Given the description of an element on the screen output the (x, y) to click on. 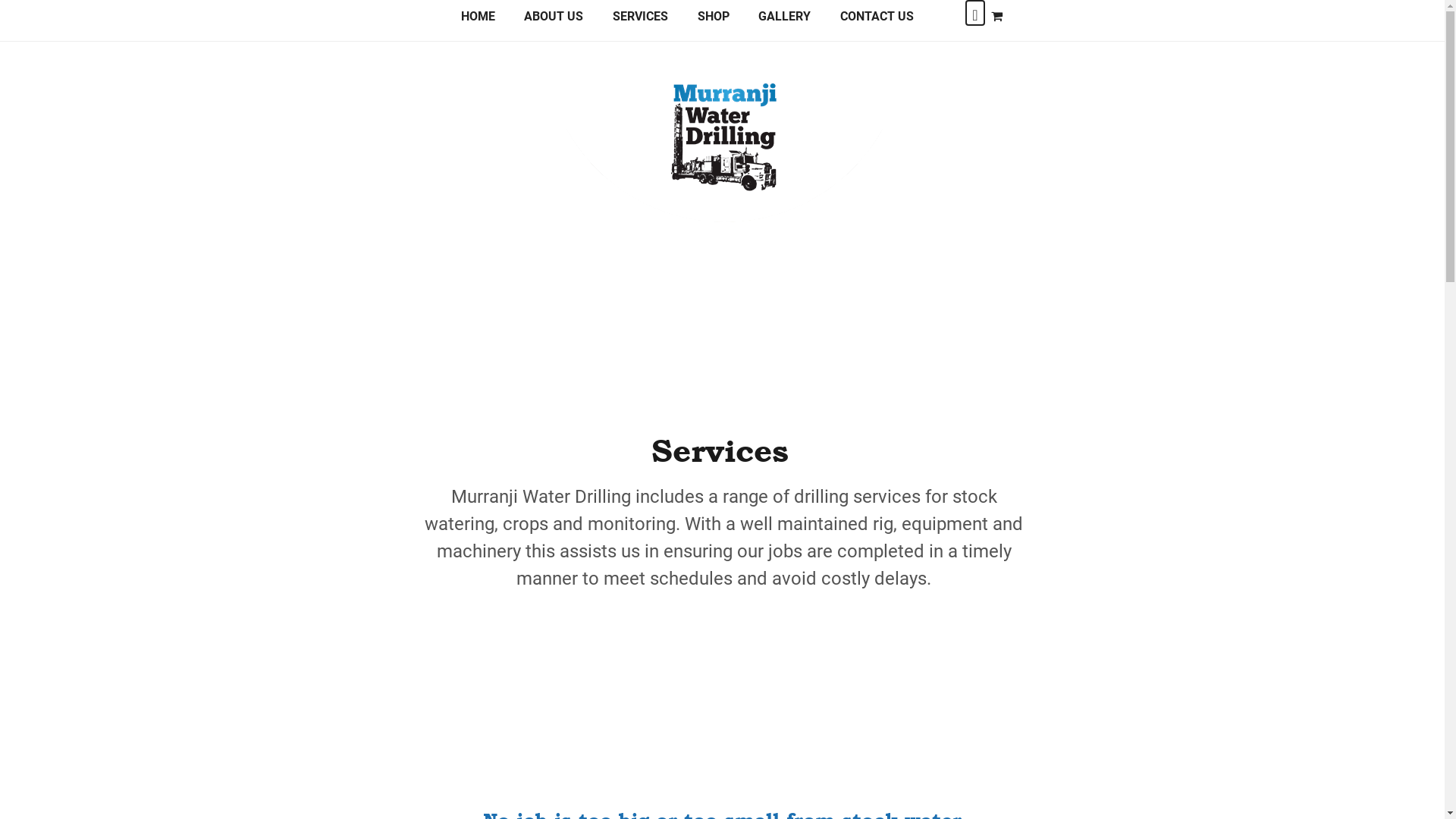
GALLERY Element type: text (784, 21)
ABOUT US Element type: text (554, 21)
HOME Element type: text (477, 21)
CONTACT US Element type: text (876, 21)
SERVICES Element type: text (640, 21)
SHOP Element type: text (713, 21)
